Given the description of an element on the screen output the (x, y) to click on. 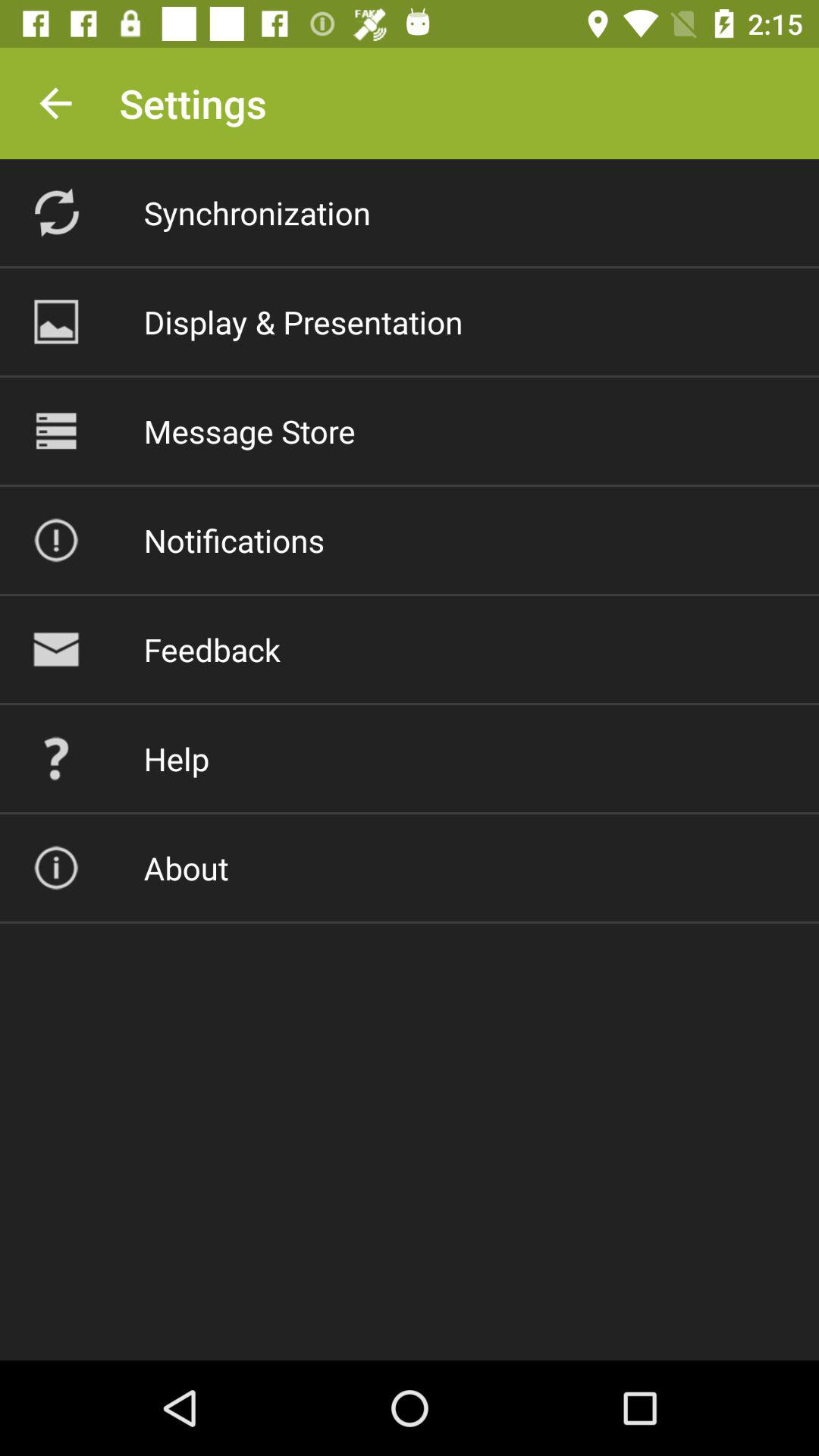
press the icon above feedback (233, 539)
